Given the description of an element on the screen output the (x, y) to click on. 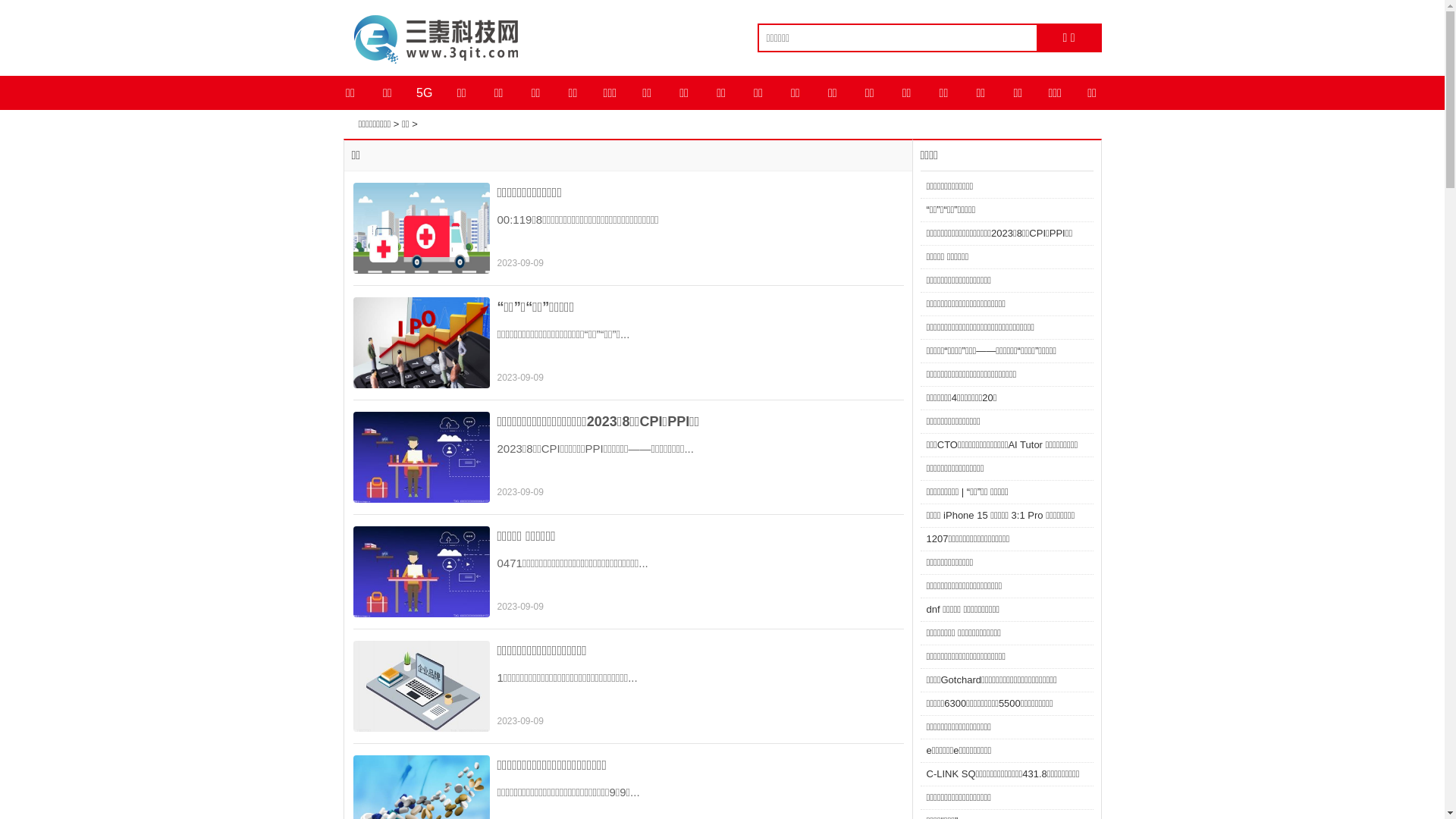
5G Element type: text (423, 92)
